Given the description of an element on the screen output the (x, y) to click on. 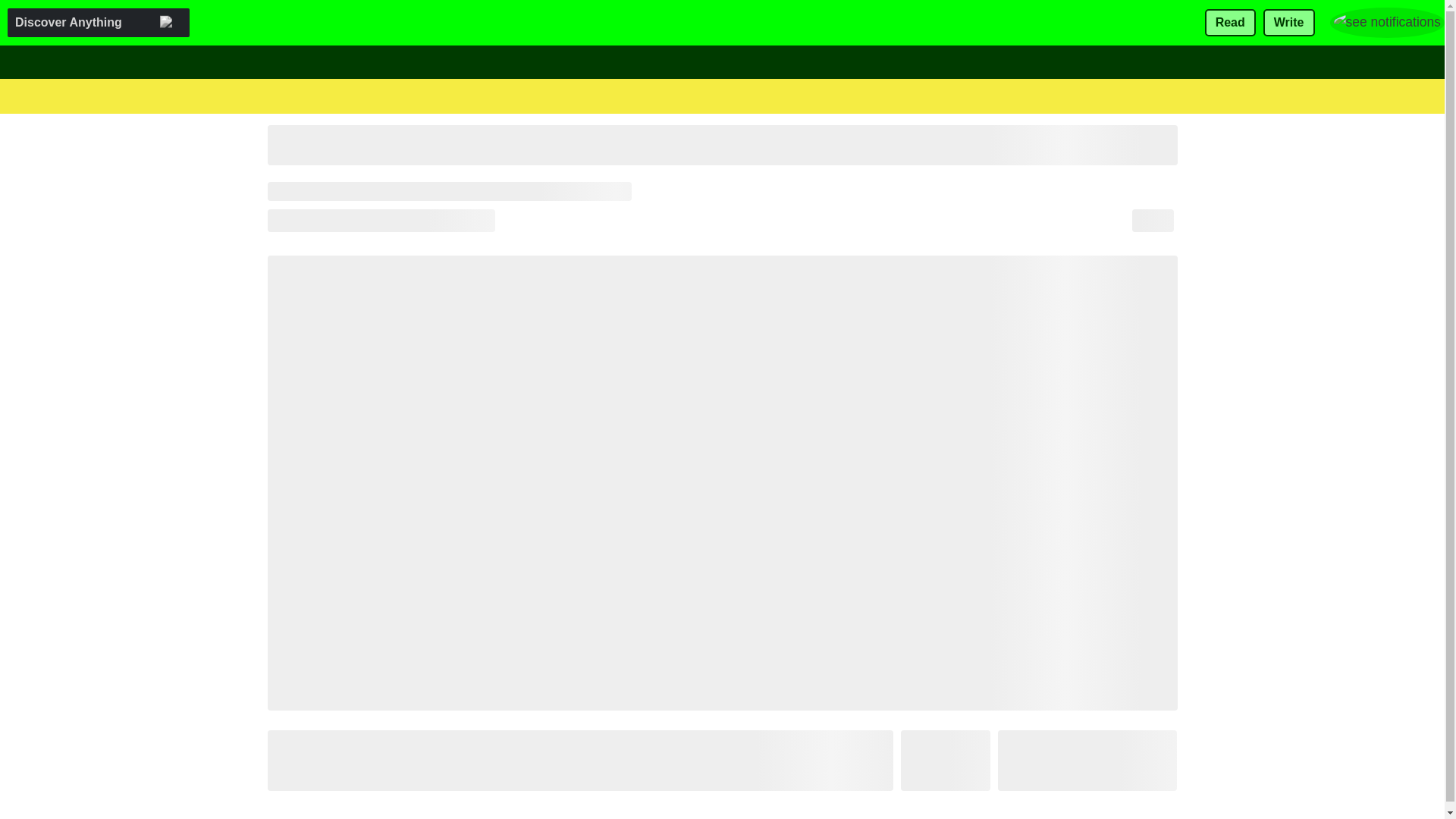
Read (1230, 22)
Write (1288, 22)
